Given the description of an element on the screen output the (x, y) to click on. 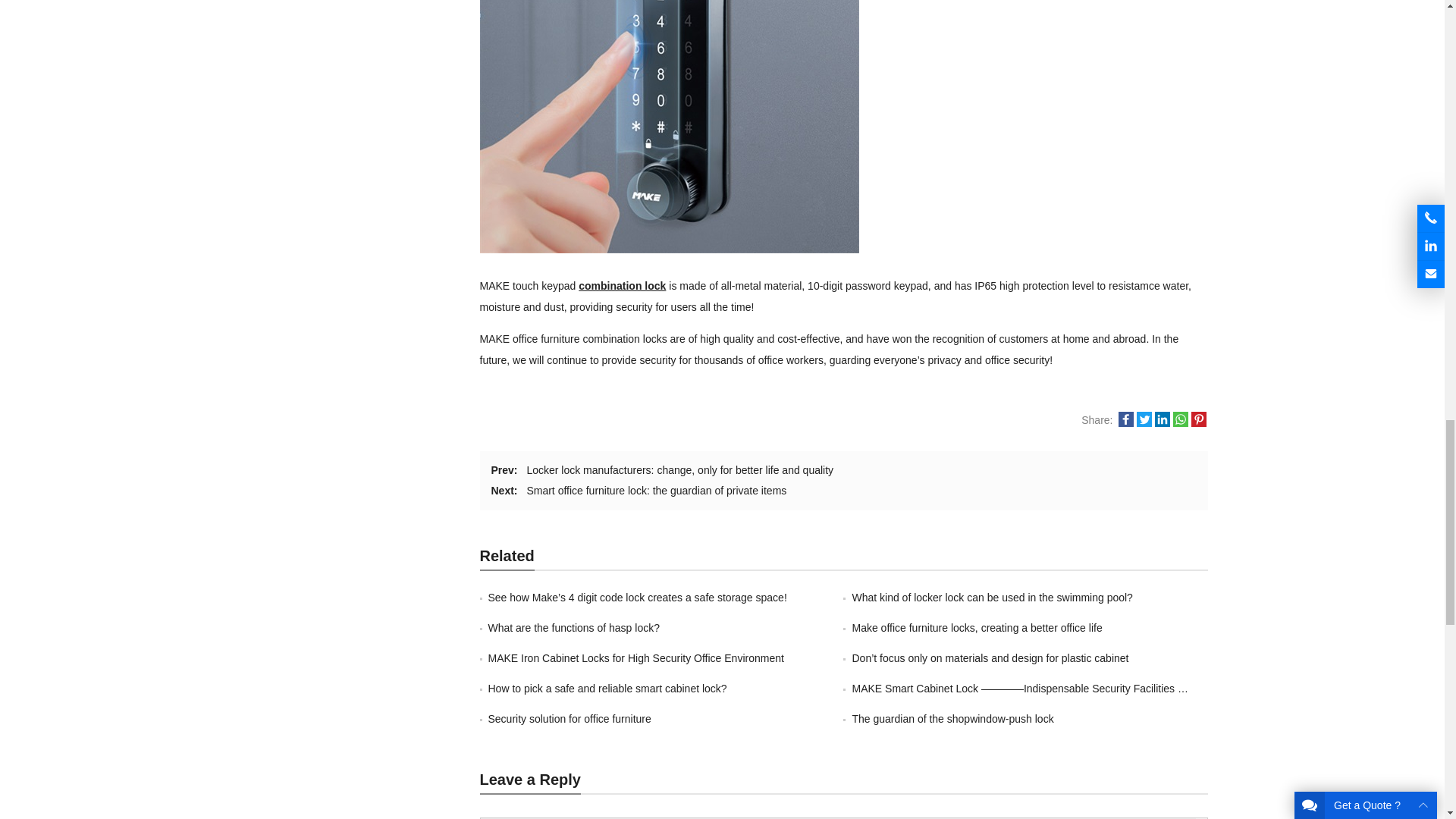
What kind of locker lock can be used in the swimming pool? (991, 597)
Share on Facebook (1125, 422)
MAKE Iron Cabinet Locks for High Security Office Environment (635, 657)
Make office furniture locks, creating a better office life (976, 627)
Share on Pinterest (1198, 422)
Combination lock (621, 285)
Share on Twitter (1143, 422)
Share on LinkedIn (1161, 422)
combination lock (621, 285)
Share on WhatsApp (1179, 422)
What are the functions of hasp lock? (573, 627)
